Given the description of an element on the screen output the (x, y) to click on. 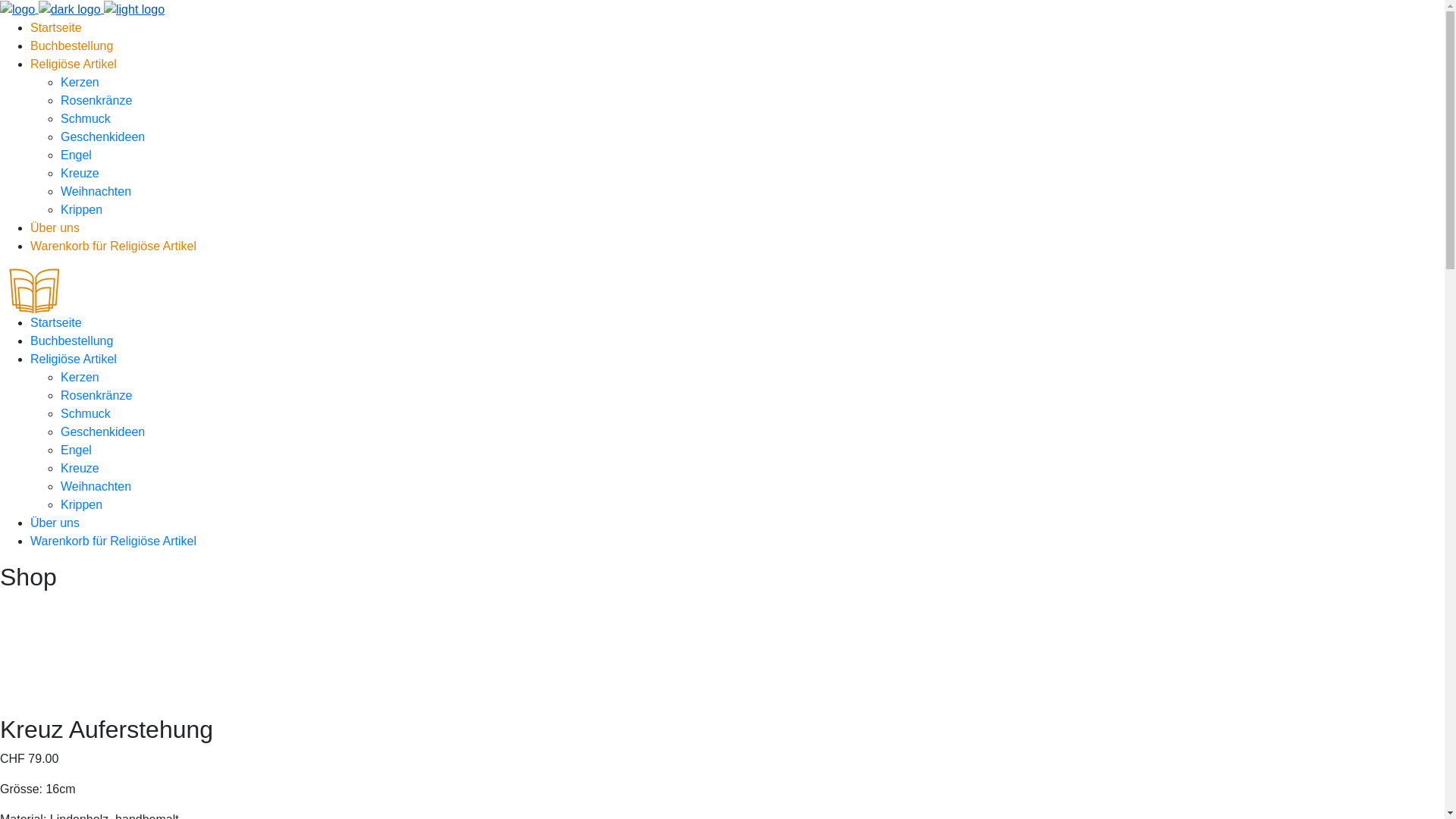
Kreuze Element type: text (79, 467)
Buchbestellung Element type: text (71, 45)
Geschenkideen Element type: text (102, 431)
Buchbestellung Element type: text (71, 340)
Engel Element type: text (75, 154)
Engel Element type: text (75, 449)
Kerzen Element type: text (79, 376)
Schmuck Element type: text (85, 413)
Weihnachten Element type: text (95, 486)
Krippen Element type: text (81, 209)
Schmuck Element type: text (85, 118)
Krippen Element type: text (81, 504)
Kreuze Element type: text (79, 172)
Startseite Element type: text (55, 322)
Weihnachten Element type: text (95, 191)
Startseite Element type: text (55, 27)
Kerzen Element type: text (79, 81)
Geschenkideen Element type: text (102, 136)
